Given the description of an element on the screen output the (x, y) to click on. 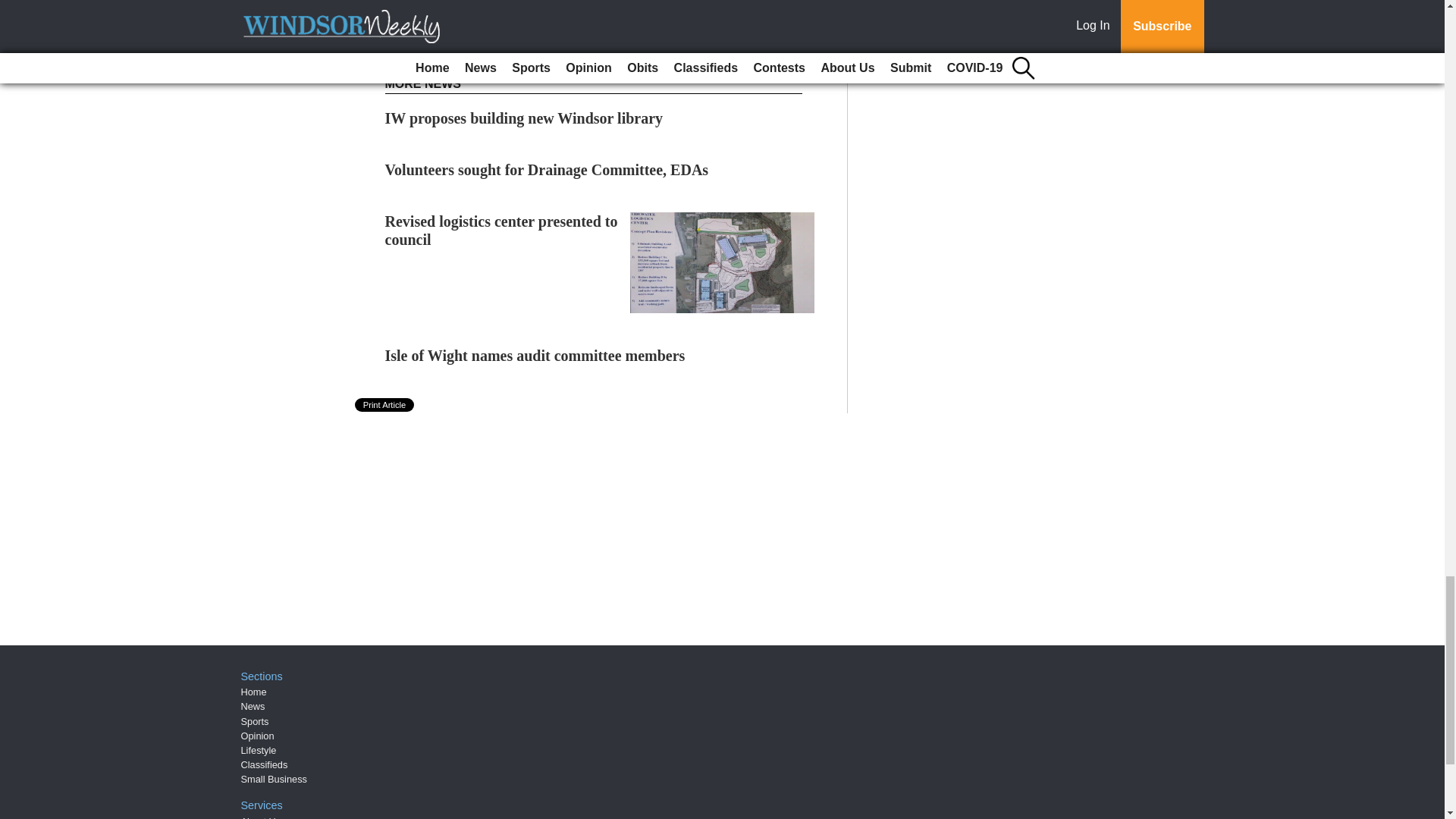
Isle of Wight names audit committee members (535, 355)
Home (253, 691)
Small Business (274, 778)
Volunteers sought for Drainage Committee, EDAs (547, 169)
Sports (255, 721)
Lifestyle (258, 749)
About Us (261, 817)
Opinion (258, 736)
Print Article (384, 404)
Revised logistics center presented to council (501, 230)
